Given the description of an element on the screen output the (x, y) to click on. 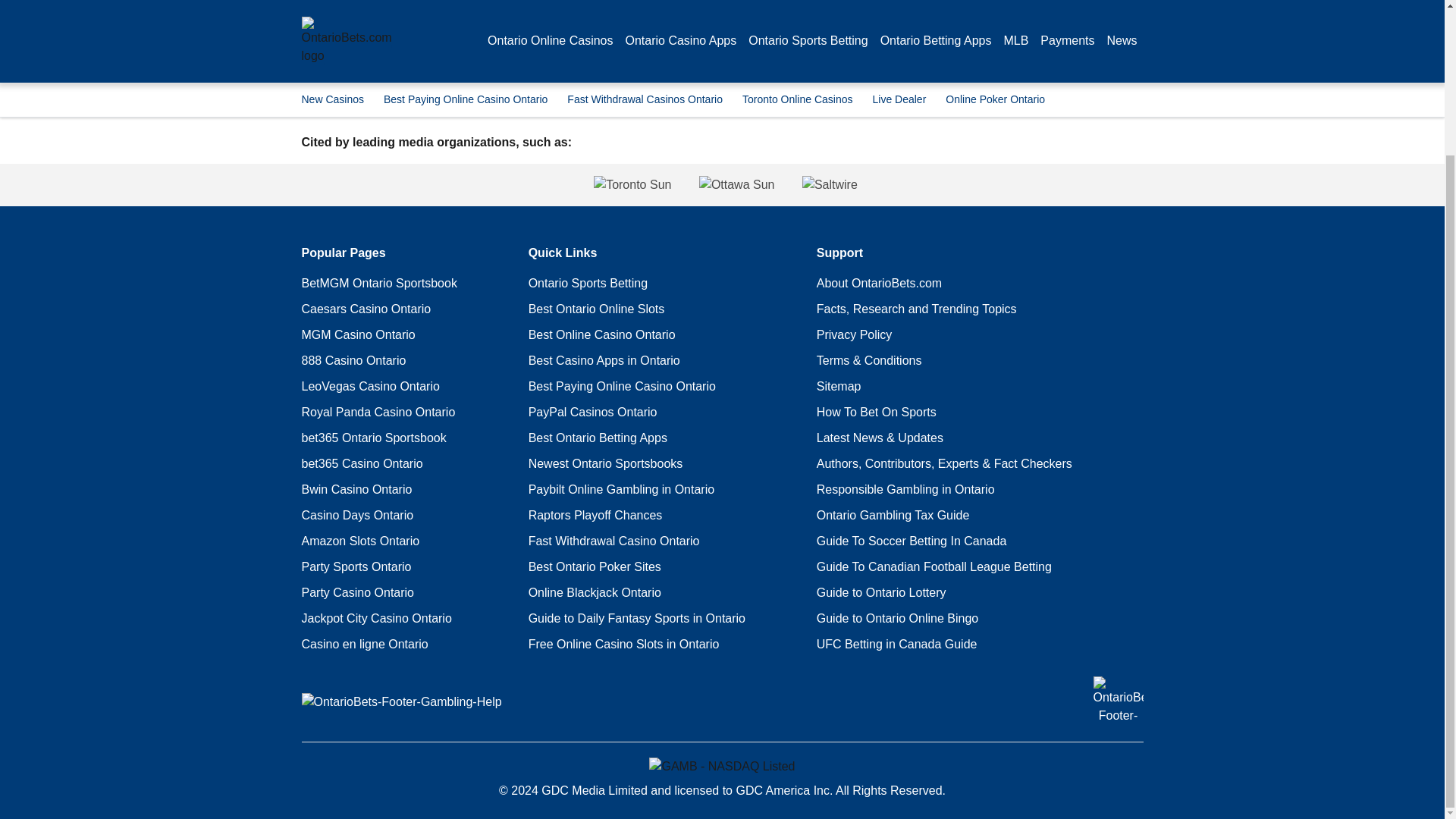
Ottawa Sun (736, 185)
OntarioBets-Footer-Minimum-Age (1117, 701)
X (471, 9)
Saltwire (973, 185)
OntarioBets-Footer-Gambling-Help (401, 701)
Toronto Sun (489, 185)
GAMB - NASDAQ Listed (721, 766)
